Given the description of an element on the screen output the (x, y) to click on. 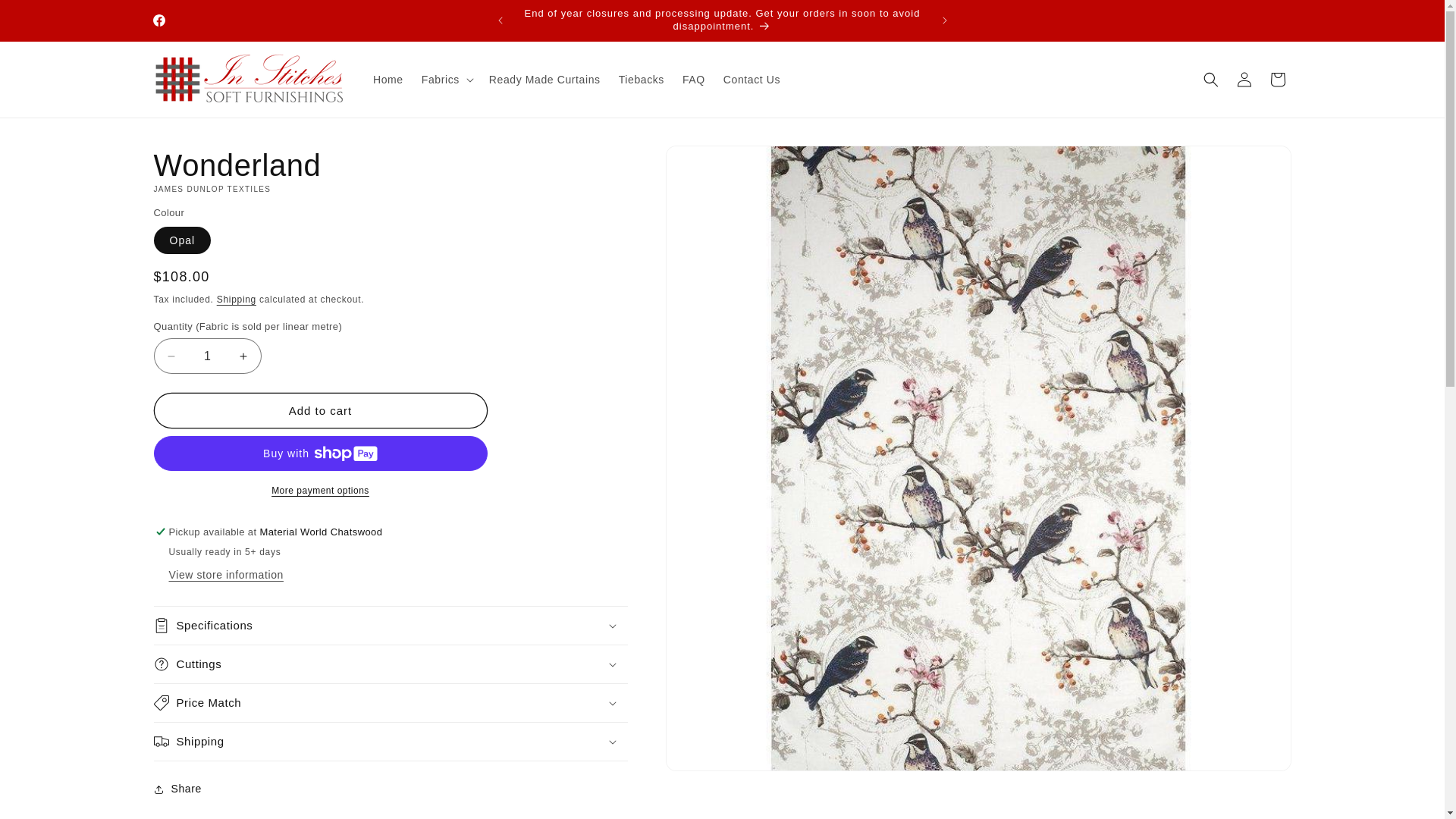
Shipping Element type: text (236, 299)
Facebook Element type: text (158, 20)
FAQ Element type: text (693, 79)
Cart Element type: text (1276, 79)
Increase quantity for Wonderland Element type: text (242, 355)
Home Element type: text (388, 79)
More payment options Element type: text (319, 490)
Contact Us Element type: text (751, 79)
Tiebacks Element type: text (641, 79)
Get in touch Element type: hover (378, 742)
Cuttings Request Form Element type: hover (224, 715)
View store information Element type: text (225, 575)
Log in Element type: text (1243, 79)
Ready Made Curtains Element type: text (544, 79)
Decrease quantity for Wonderland Element type: text (171, 355)
Add to cart Element type: text (319, 410)
